Given the description of an element on the screen output the (x, y) to click on. 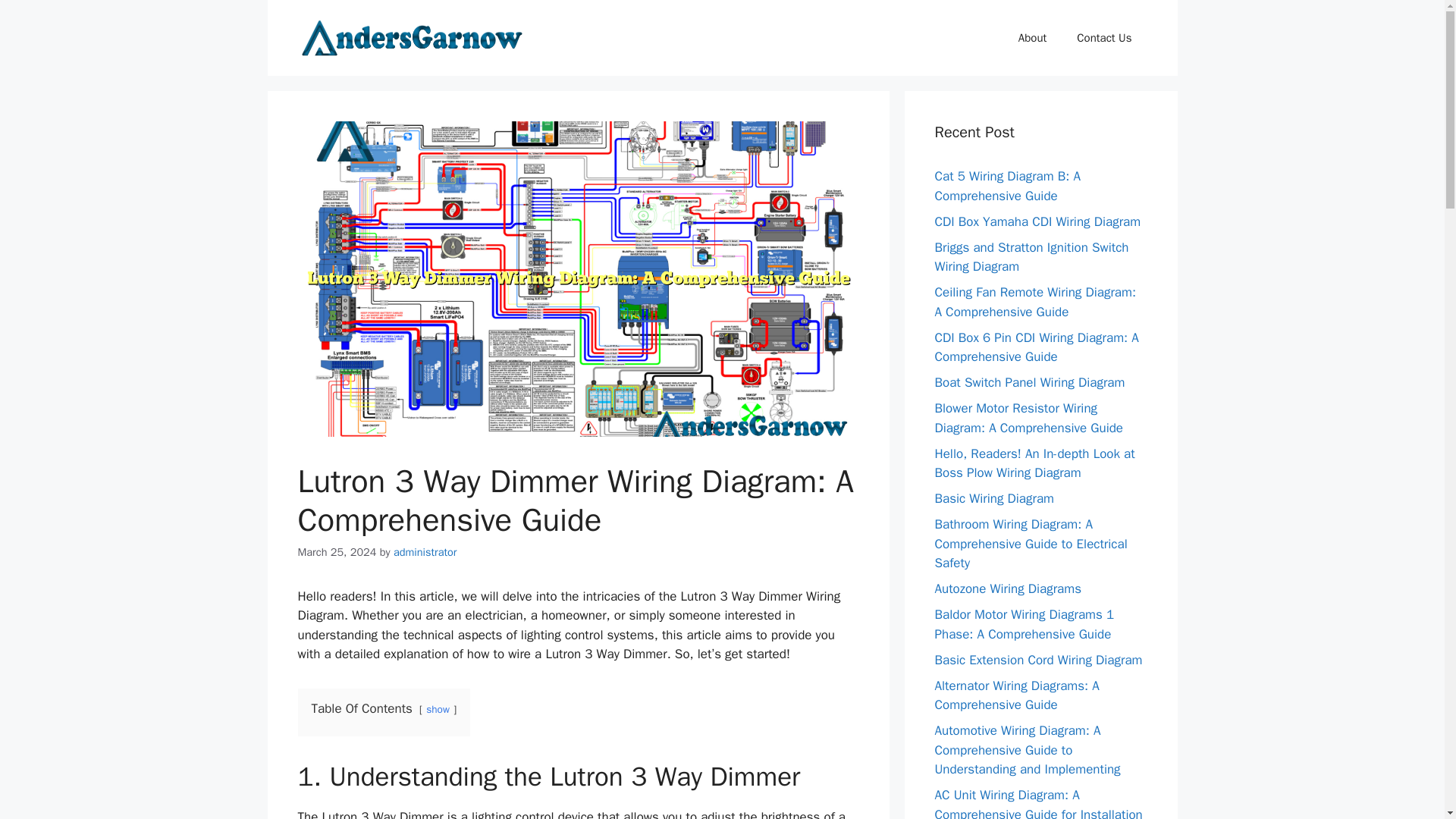
Alternator Wiring Diagrams: A Comprehensive Guide (1016, 695)
Autozone Wiring Diagrams (1007, 588)
CDI Box 6 Pin CDI Wiring Diagram: A Comprehensive Guide (1036, 346)
About (1032, 37)
Briggs and Stratton Ignition Switch Wiring Diagram (1031, 257)
Contact Us (1104, 37)
administrator (425, 551)
Cat 5 Wiring Diagram B: A Comprehensive Guide (1007, 185)
Baldor Motor Wiring Diagrams 1 Phase: A Comprehensive Guide (1023, 624)
Boat Switch Panel Wiring Diagram (1029, 382)
